Given the description of an element on the screen output the (x, y) to click on. 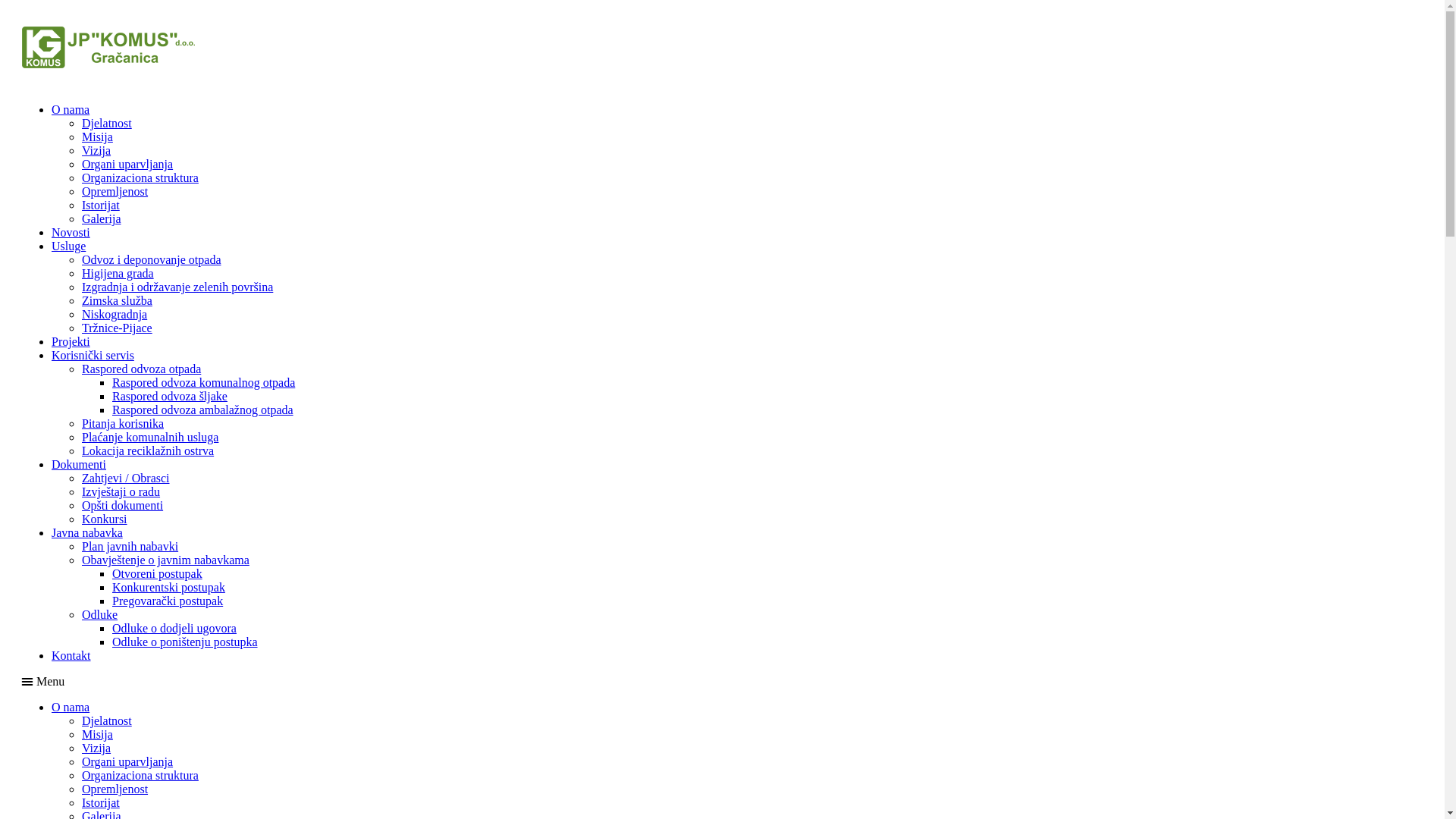
Vizija Element type: text (95, 747)
Higijena grada Element type: text (117, 272)
Odluke Element type: text (99, 614)
Dokumenti Element type: text (78, 464)
Odluke o dodjeli ugovora Element type: text (174, 627)
Djelatnost Element type: text (106, 720)
Djelatnost Element type: text (106, 122)
Usluge Element type: text (68, 245)
Otvoreni postupak Element type: text (157, 573)
Plan javnih nabavki Element type: text (129, 545)
Odvoz i deponovanje otpada Element type: text (151, 259)
O nama Element type: text (70, 109)
Istorijat Element type: text (100, 802)
Organizaciona struktura Element type: text (139, 177)
Organi uparvljanja Element type: text (126, 163)
Misija Element type: text (96, 136)
Novosti Element type: text (70, 231)
Galerija Element type: text (101, 218)
Kontakt Element type: text (71, 655)
Opremljenost Element type: text (114, 788)
Raspored odvoza otpada Element type: text (140, 368)
O nama Element type: text (70, 706)
Konkurentski postupak Element type: text (168, 586)
Opremljenost Element type: text (114, 191)
Projekti Element type: text (70, 341)
Zahtjevi / Obrasci Element type: text (125, 477)
Javna nabavka Element type: text (86, 532)
Vizija Element type: text (95, 150)
Organizaciona struktura Element type: text (139, 774)
Organi uparvljanja Element type: text (126, 761)
Raspored odvoza komunalnog otpada Element type: text (203, 382)
Niskogradnja Element type: text (114, 313)
Istorijat Element type: text (100, 204)
Misija Element type: text (96, 734)
Konkursi Element type: text (104, 518)
Pitanja korisnika Element type: text (122, 423)
